Given the description of an element on the screen output the (x, y) to click on. 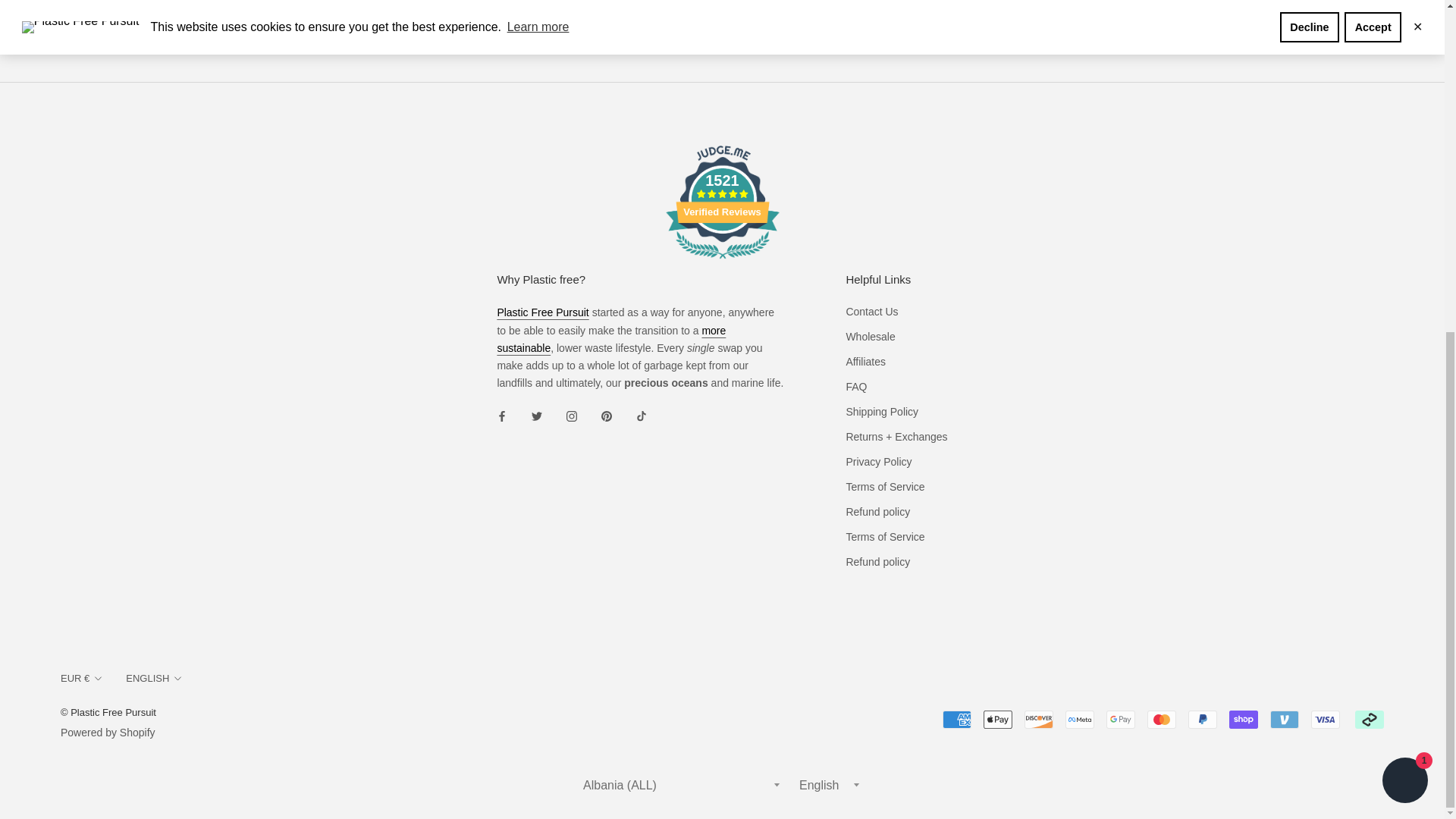
Google Pay (1120, 719)
Shop Pay (1242, 719)
American Express (956, 719)
Discover (1038, 719)
Meta Pay (1079, 719)
Mastercard (1161, 719)
PayPal (1202, 719)
Apple Pay (997, 719)
Shopify online store chat (1404, 228)
